Given the description of an element on the screen output the (x, y) to click on. 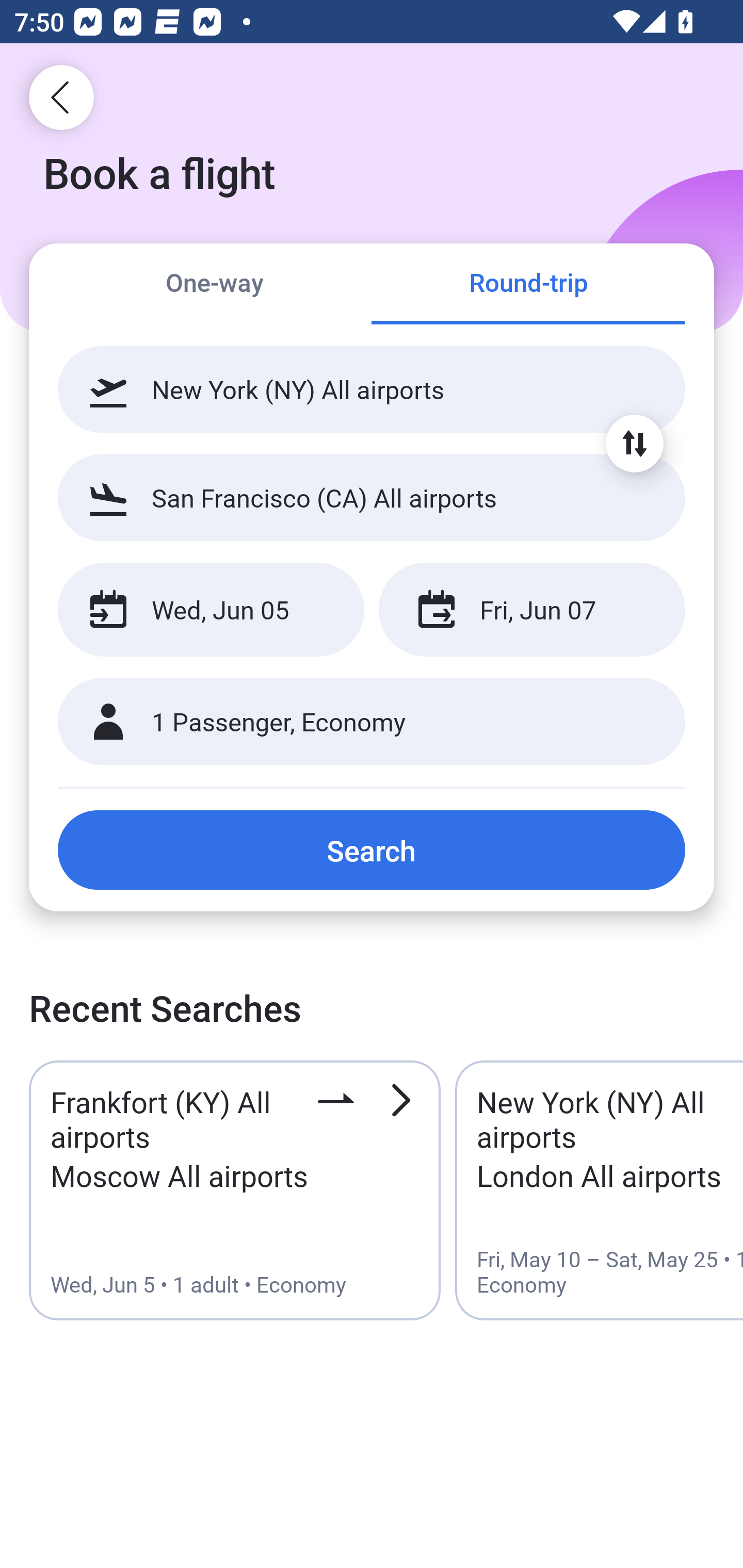
One-way (214, 284)
New York (NY) All airports (371, 389)
San Francisco (CA) All airports (371, 497)
Wed, Jun 05 (210, 609)
Fri, Jun 07 (531, 609)
1 Passenger, Economy (371, 721)
Search (371, 849)
